Given the description of an element on the screen output the (x, y) to click on. 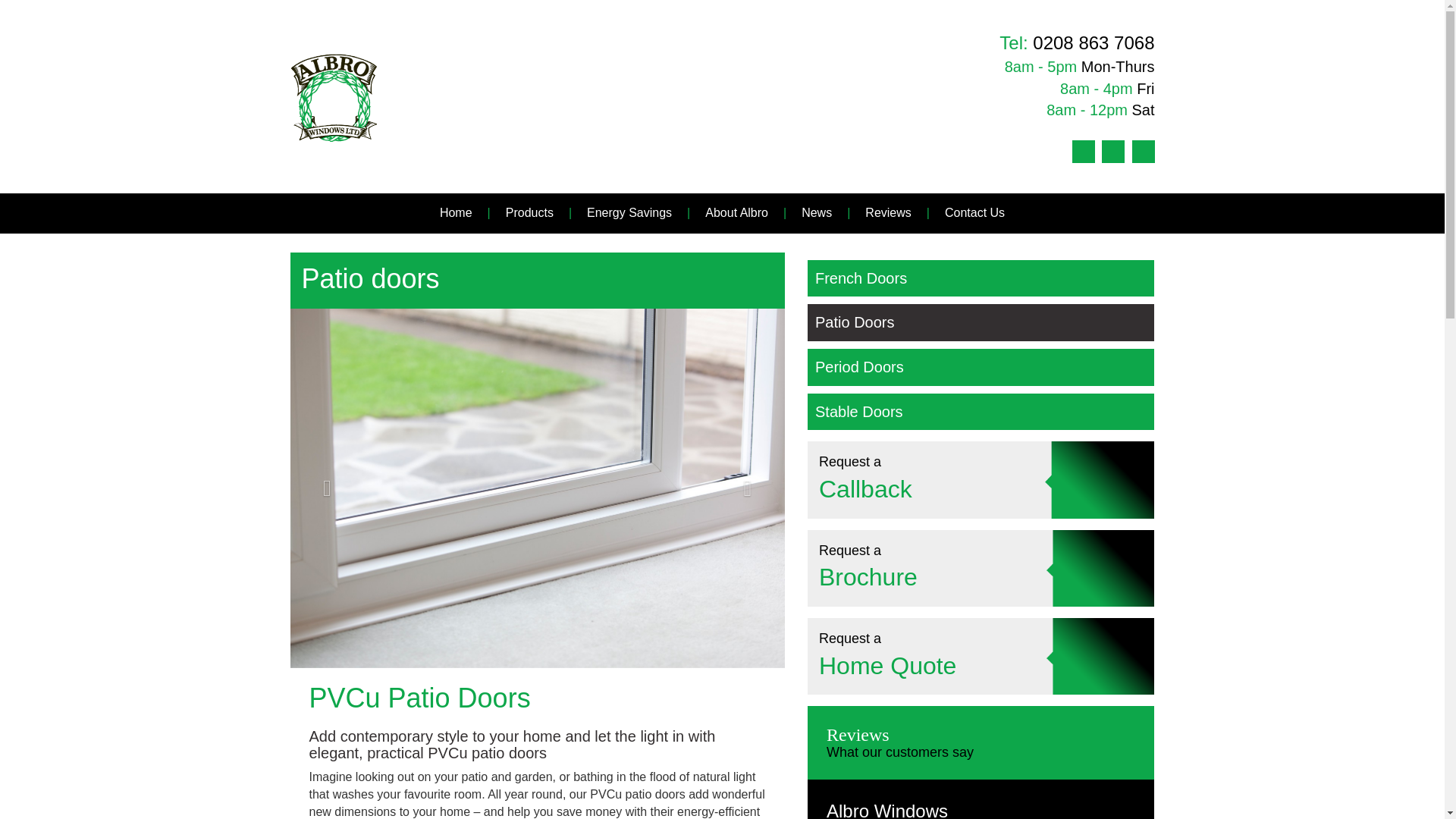
Contact Us (974, 212)
News (816, 212)
Energy Savings (628, 212)
Reviews (887, 212)
Home (455, 212)
Products (529, 212)
About Albro (736, 212)
